Given the description of an element on the screen output the (x, y) to click on. 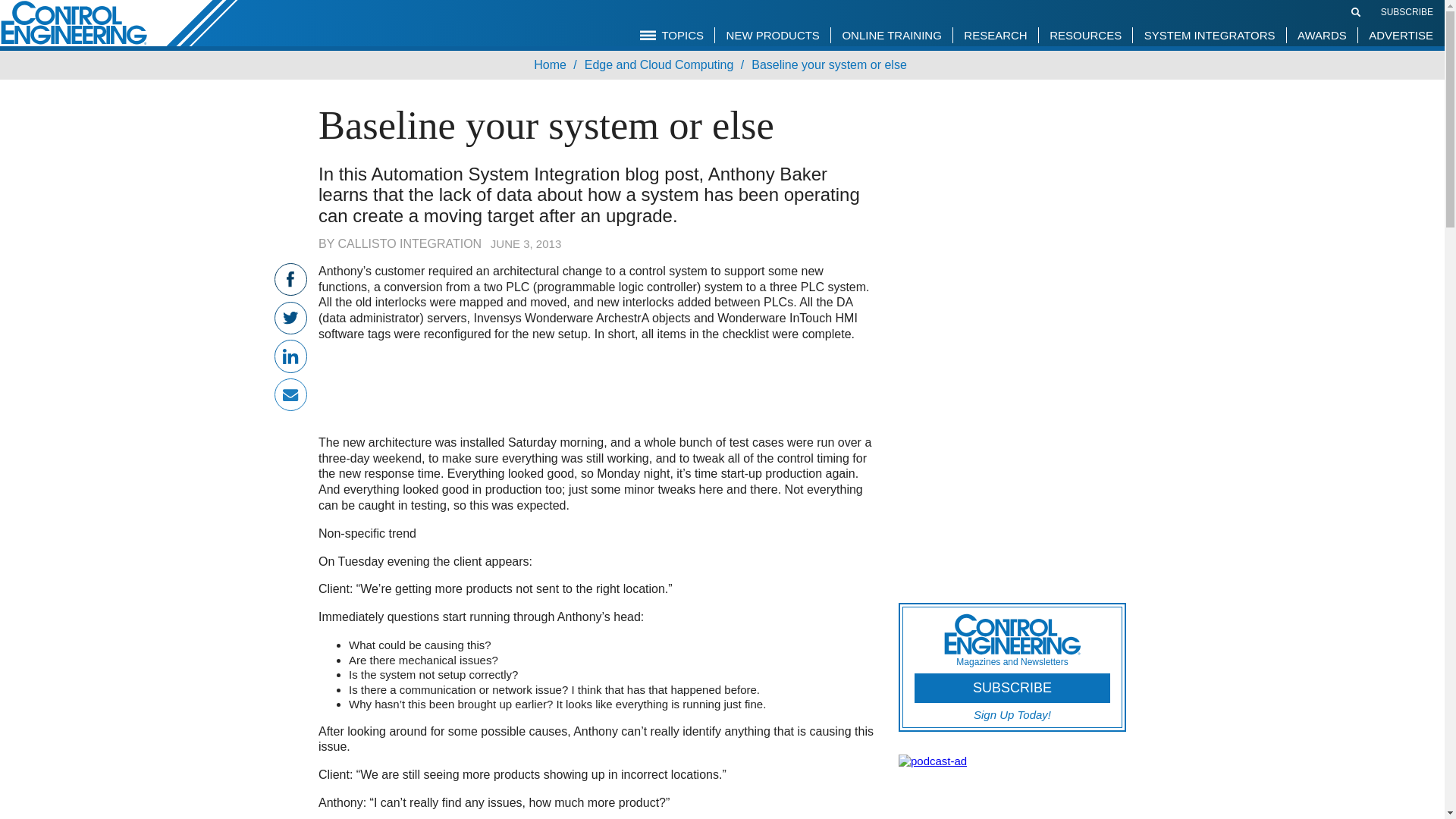
Search (1356, 11)
TOPICS (671, 34)
SUBSCRIBE (1406, 11)
SYSTEM INTEGRATORS (1209, 34)
ONLINE TRAINING (890, 34)
RESOURCES (1085, 34)
RESEARCH (995, 34)
NEW PRODUCTS (772, 34)
